Given the description of an element on the screen output the (x, y) to click on. 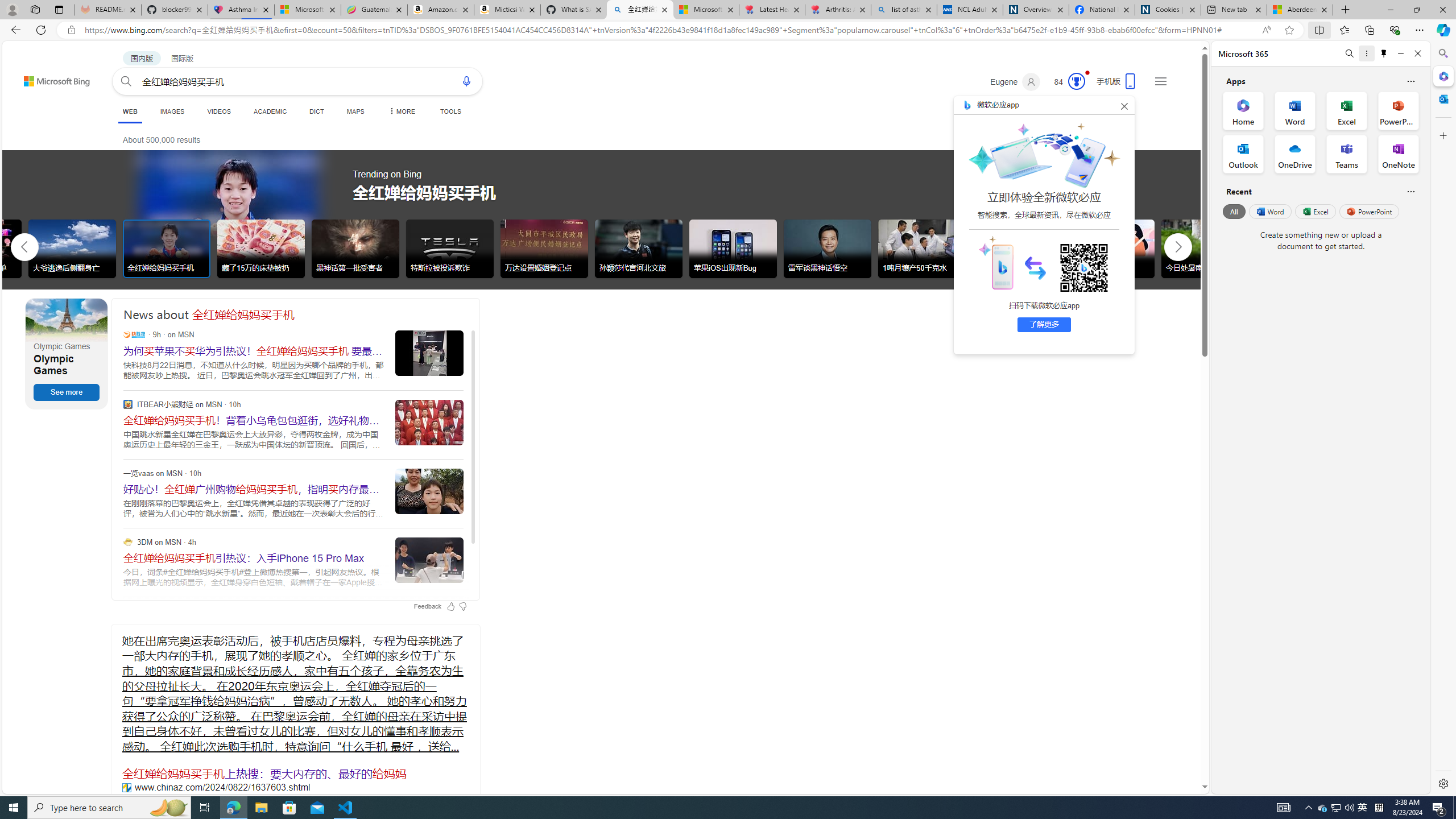
Search button (126, 80)
Olympic Games Olympic Games See more (66, 353)
Microsoft Rewards 84 (1065, 81)
Animation (1086, 72)
